Given the description of an element on the screen output the (x, y) to click on. 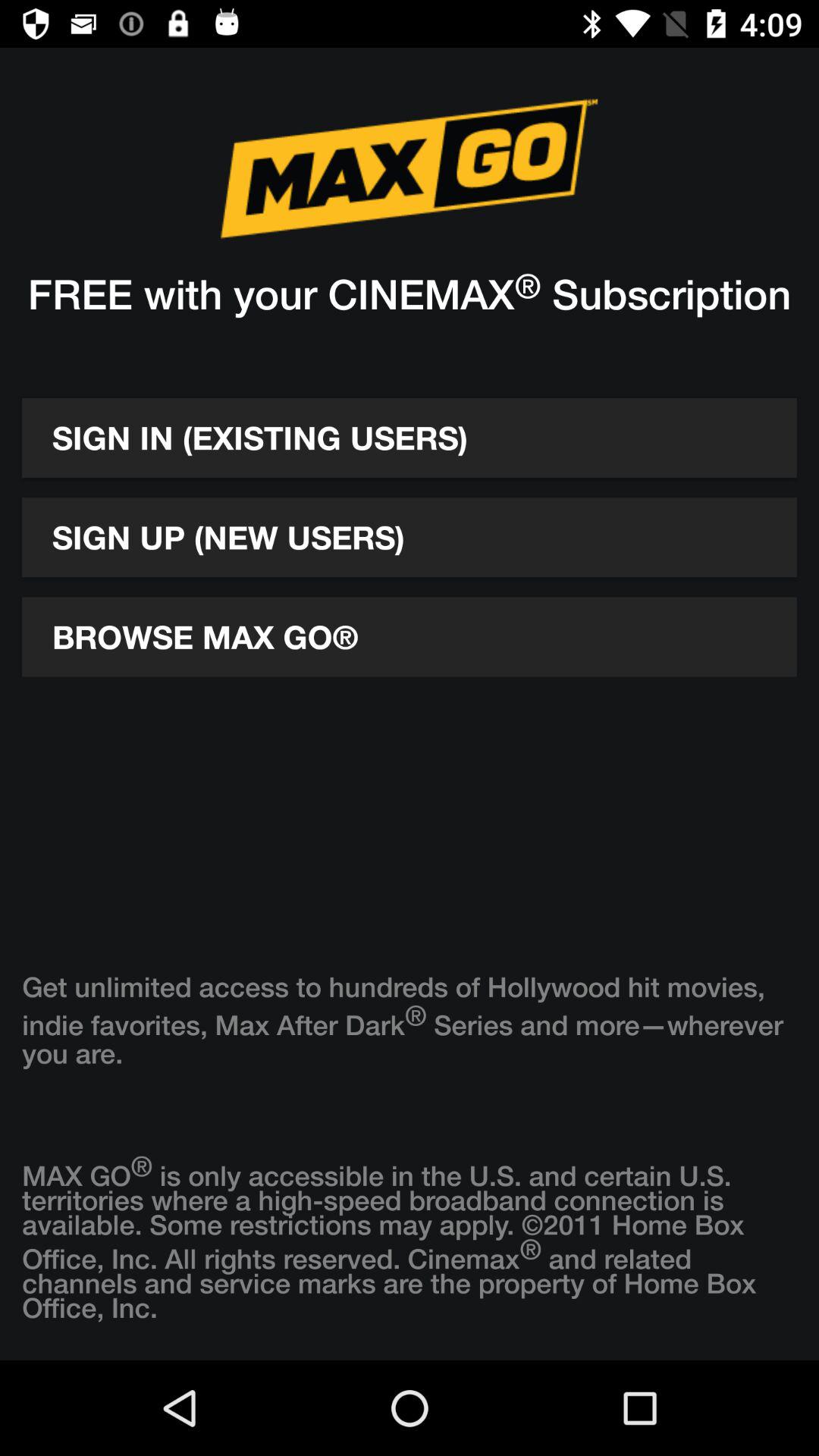
choose sign in existing item (409, 437)
